Given the description of an element on the screen output the (x, y) to click on. 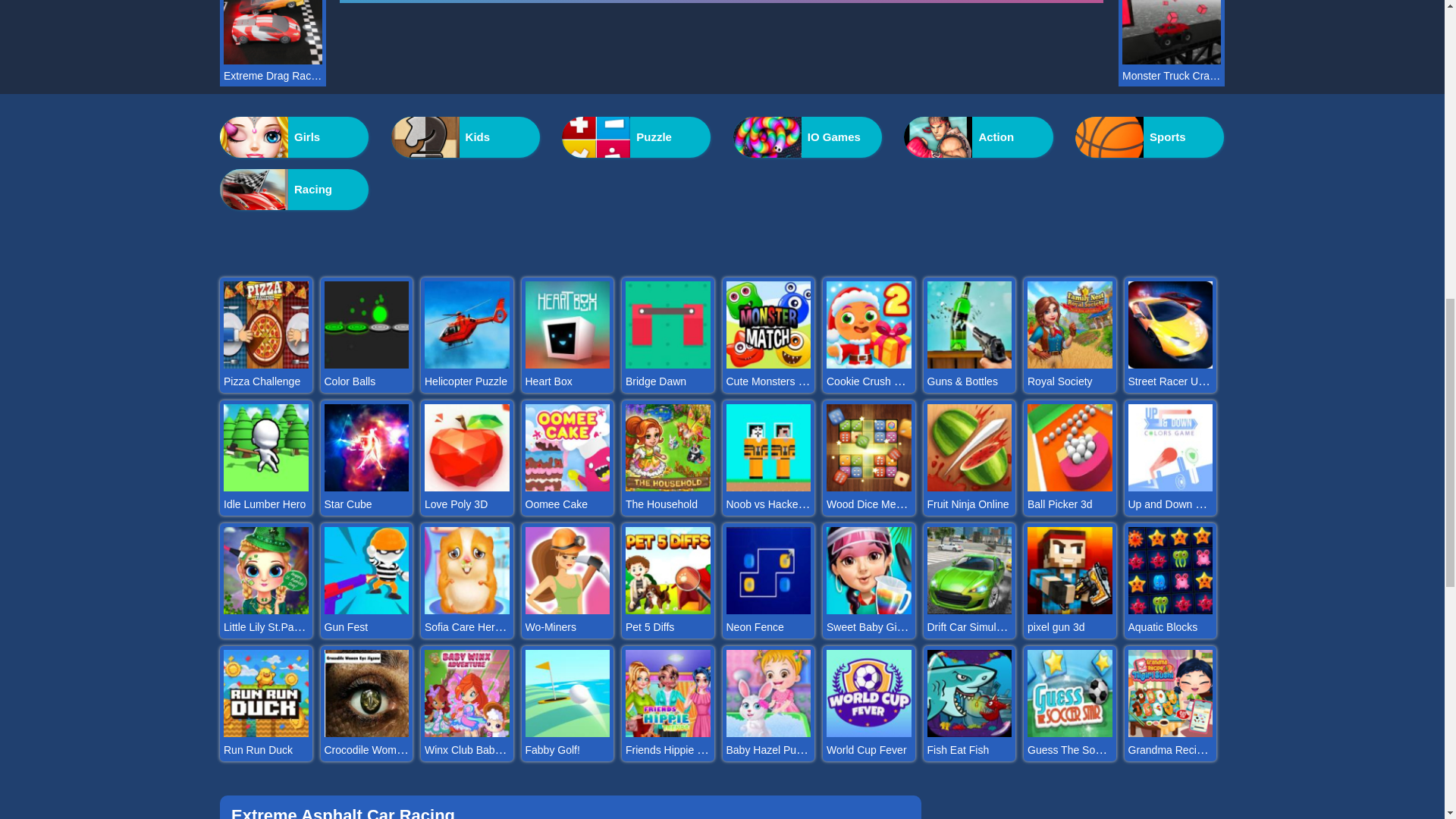
Girls (293, 137)
Kids (465, 137)
Racing (293, 188)
Sports (1149, 137)
Extreme Drag Racing (272, 60)
Extreme Drag Racing (272, 75)
Puzzle (636, 137)
IO Games (807, 137)
Monster Truck Crazy Impossible (1171, 75)
Action (978, 137)
Extreme Drag Racing (272, 75)
